Given the description of an element on the screen output the (x, y) to click on. 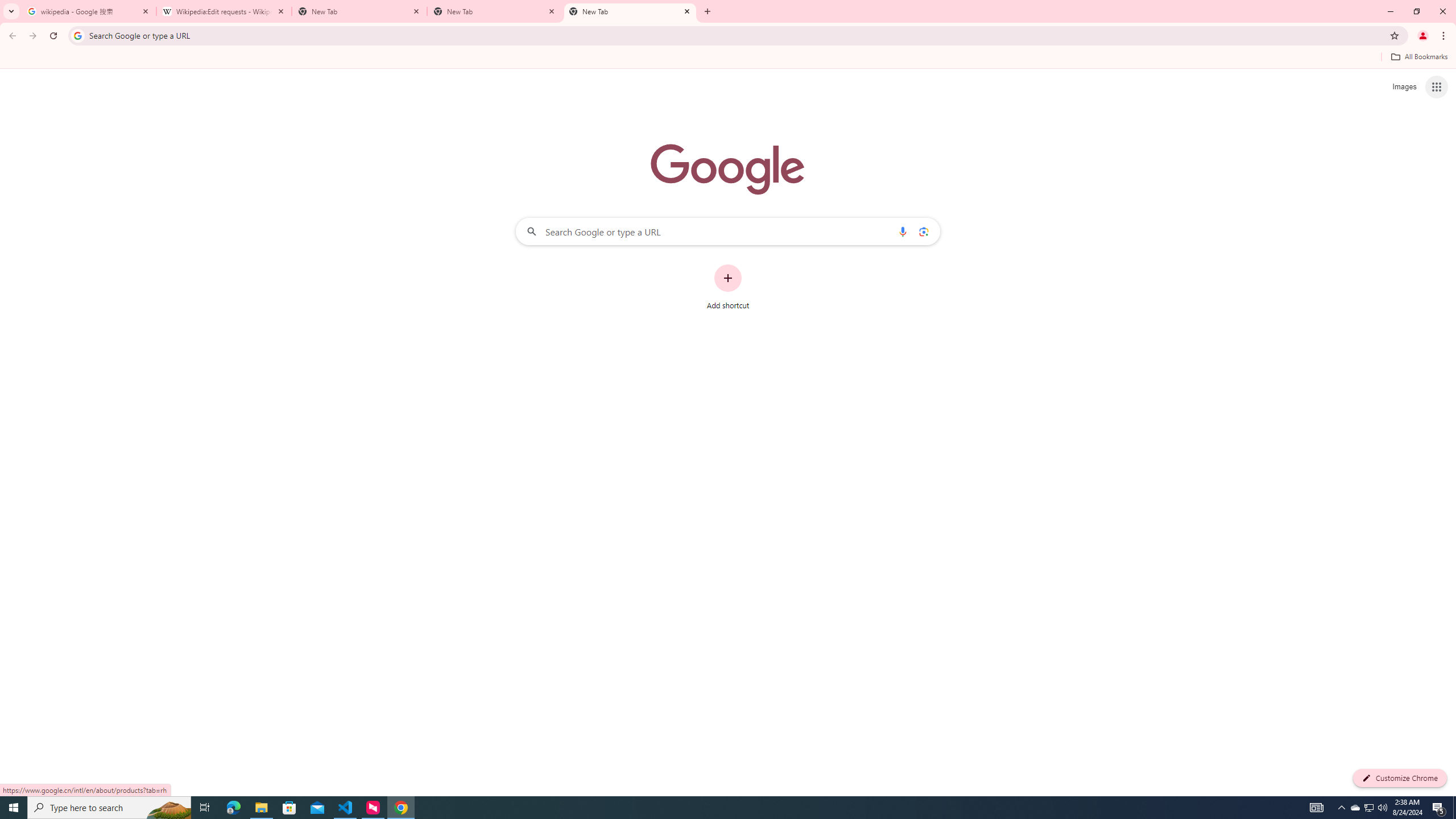
Search Google or type a URL (727, 230)
Wikipedia:Edit requests - Wikipedia (224, 11)
New Tab (494, 11)
New Tab (630, 11)
Customize Chrome (1399, 778)
Search by voice (902, 230)
